Given the description of an element on the screen output the (x, y) to click on. 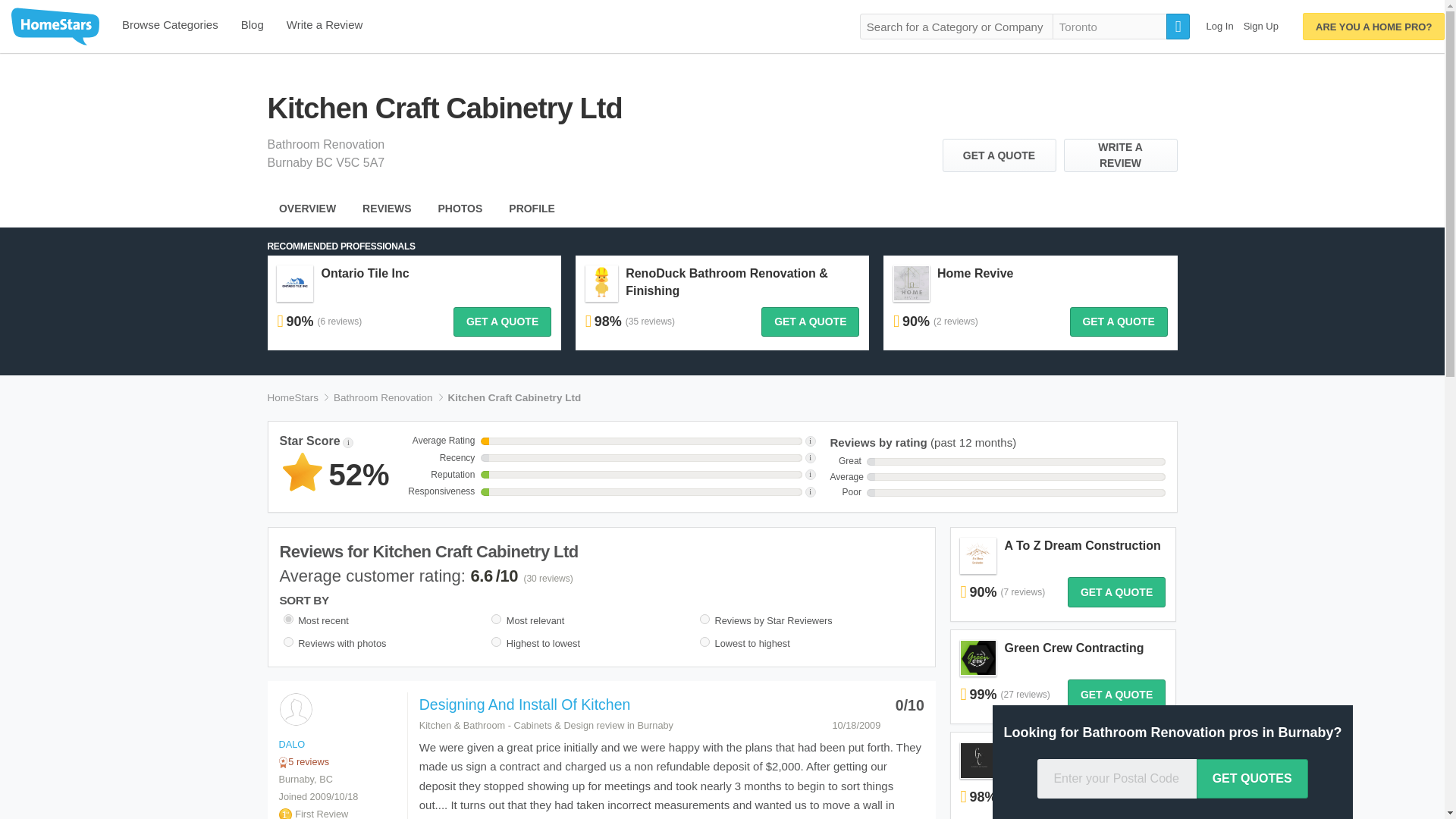
WRITE A REVIEW (1119, 154)
GET A QUOTE (810, 322)
REVIEWS (387, 208)
GET A QUOTE (501, 322)
Sign Up (1260, 25)
Toronto (1109, 26)
PROFILE (532, 208)
Log In (1220, 25)
A To Z  Dream Construction's logo (977, 554)
Ontario Tile Inc (364, 273)
